Given the description of an element on the screen output the (x, y) to click on. 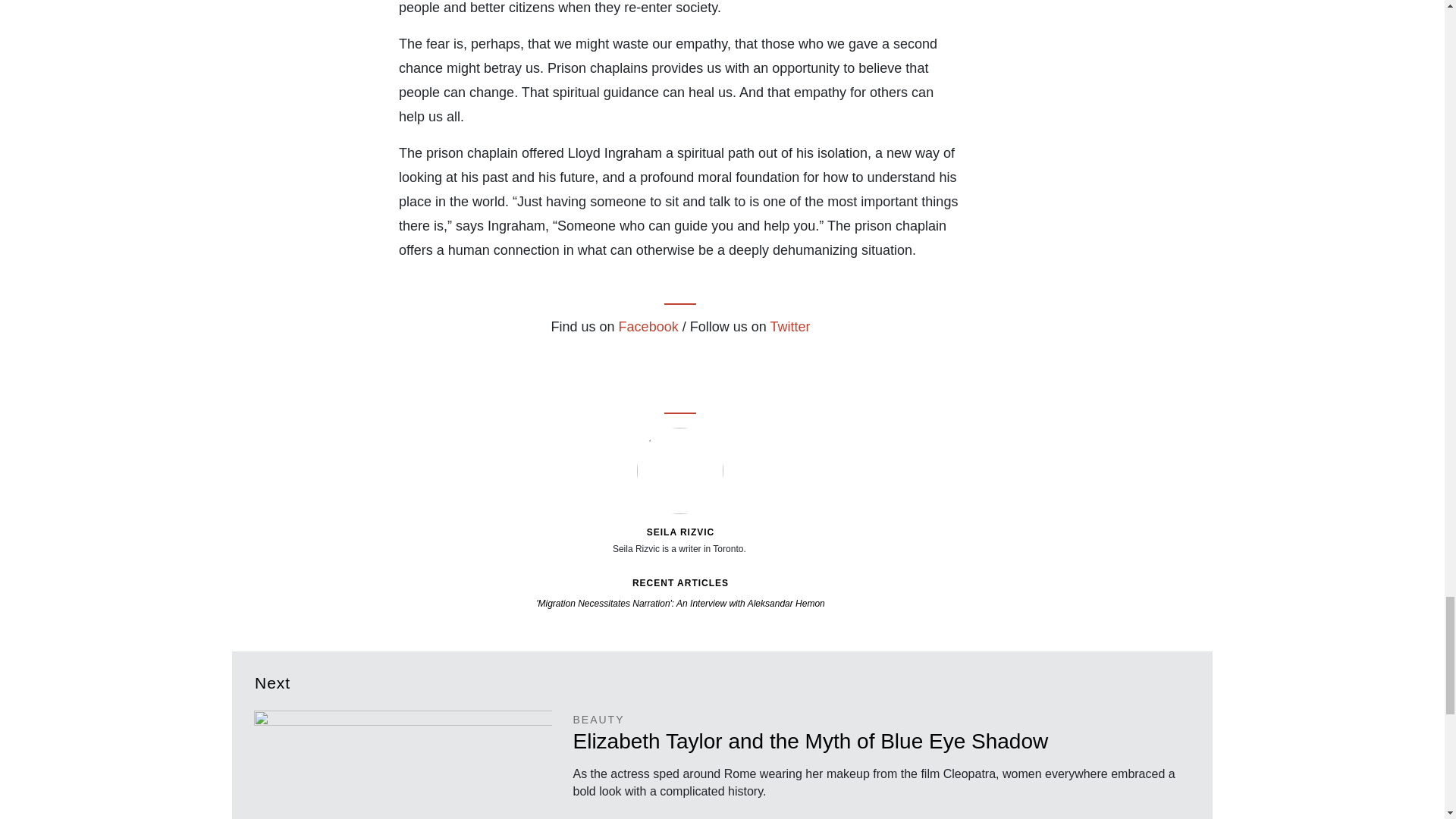
Twitter (678, 360)
Twitter (789, 326)
Facebook (652, 360)
Facebook (648, 326)
LinkedIn (704, 360)
SEILA RIZVIC (680, 532)
